Given the description of an element on the screen output the (x, y) to click on. 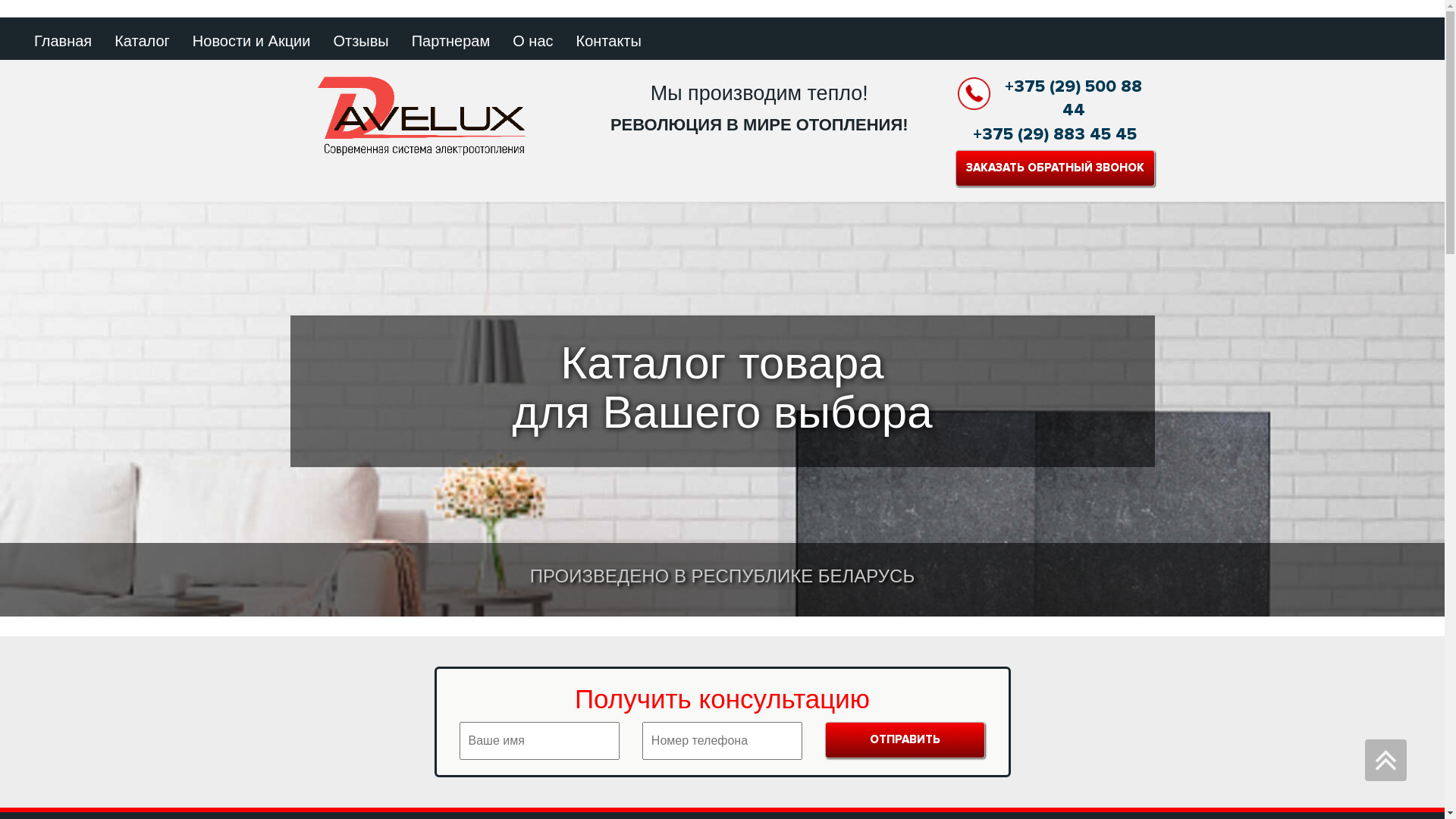
+375 (29) 883 45 45 Element type: text (1054, 134)
+375 (29) 500 88 44 Element type: text (1054, 98)
